Given the description of an element on the screen output the (x, y) to click on. 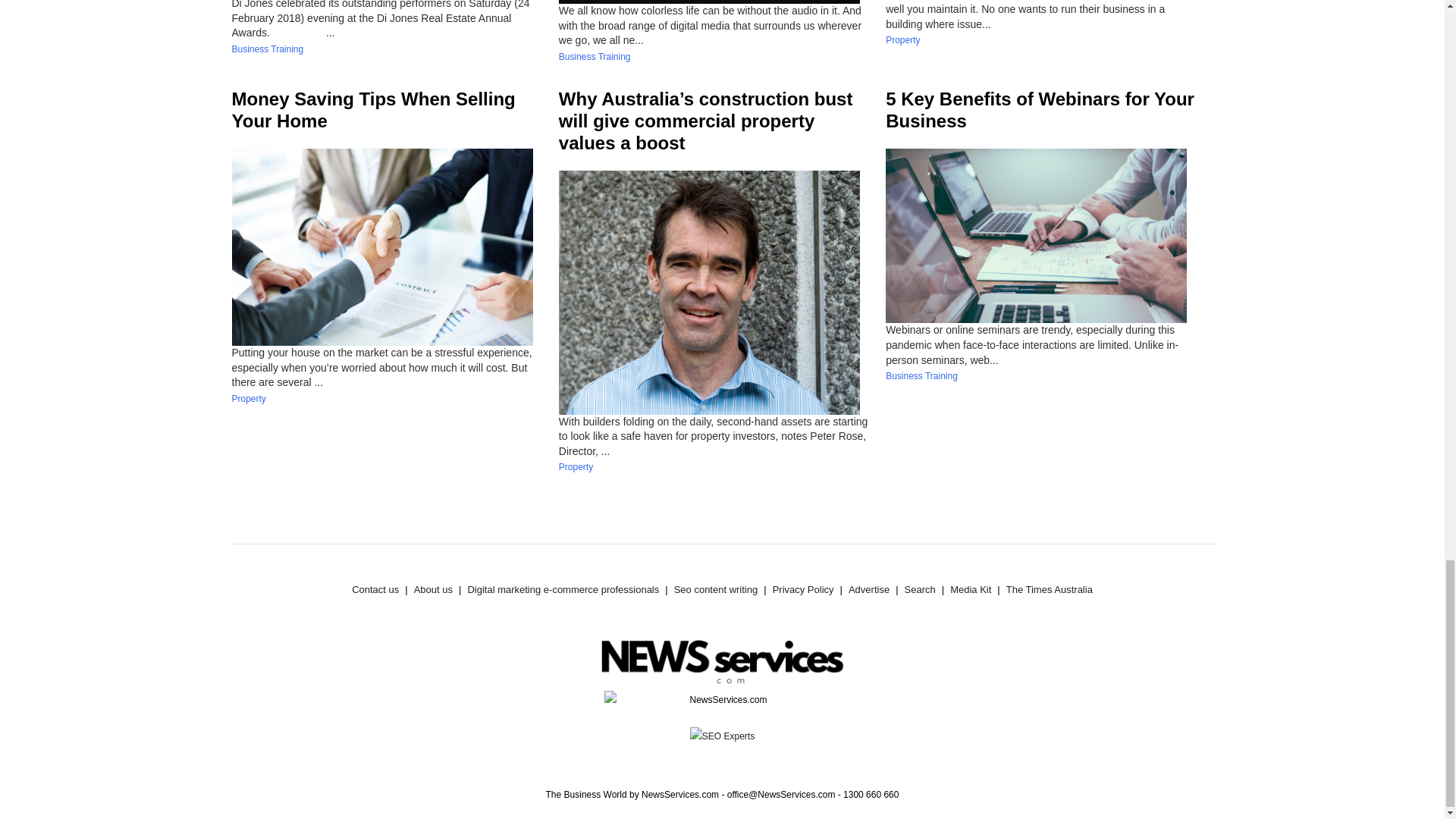
Money Saving Tips When Selling Your Home (373, 109)
Property (248, 398)
Property (575, 466)
Money Saving Tips When Selling Your Home (373, 109)
Business Training (594, 56)
Business Training (267, 49)
5 Key Benefits of Webinars for Your Business (1039, 109)
5 Key Benefits of Webinars for Your Business (1039, 109)
Property (902, 40)
